Given the description of an element on the screen output the (x, y) to click on. 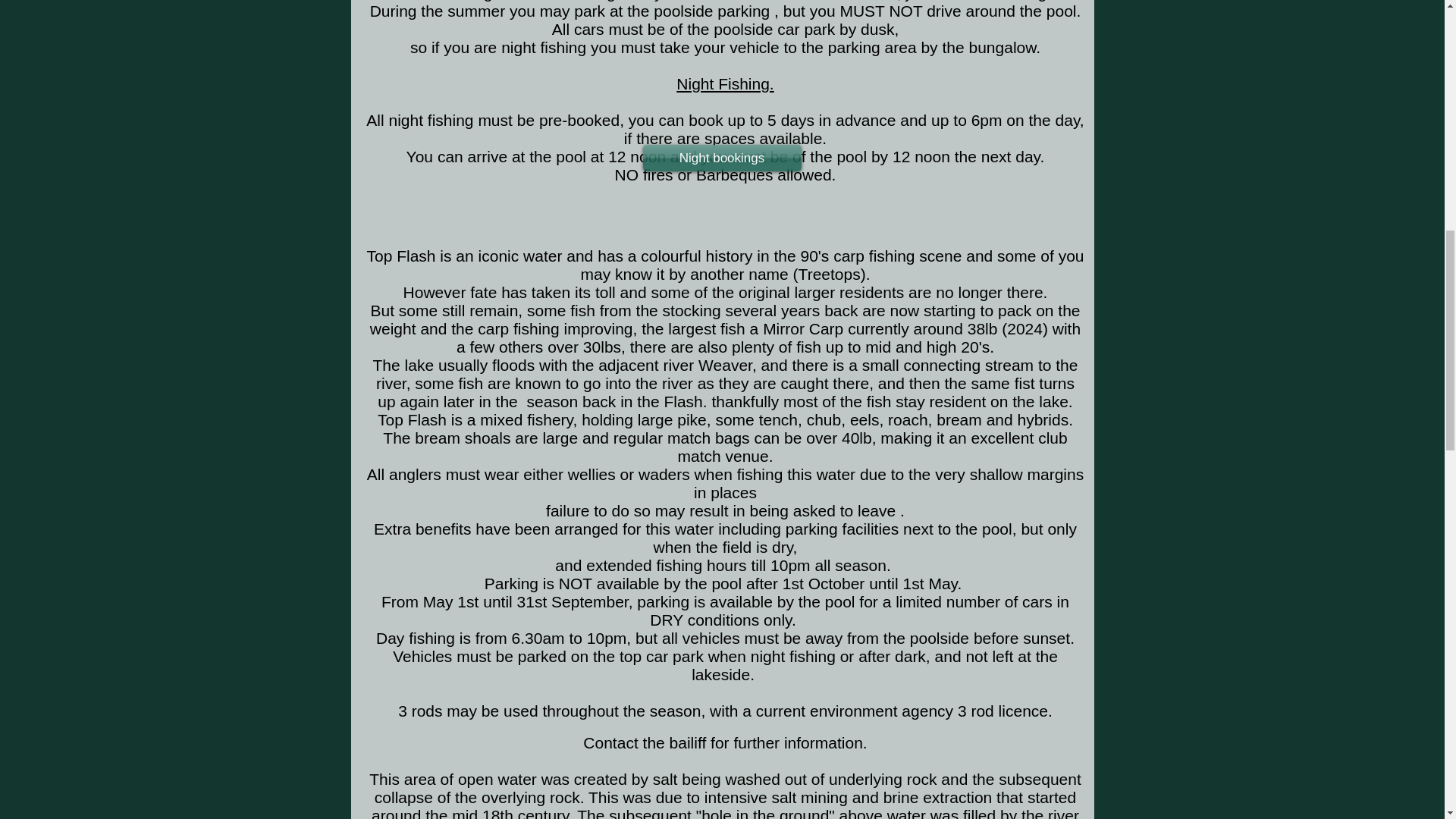
Night bookings (722, 157)
